Given the description of an element on the screen output the (x, y) to click on. 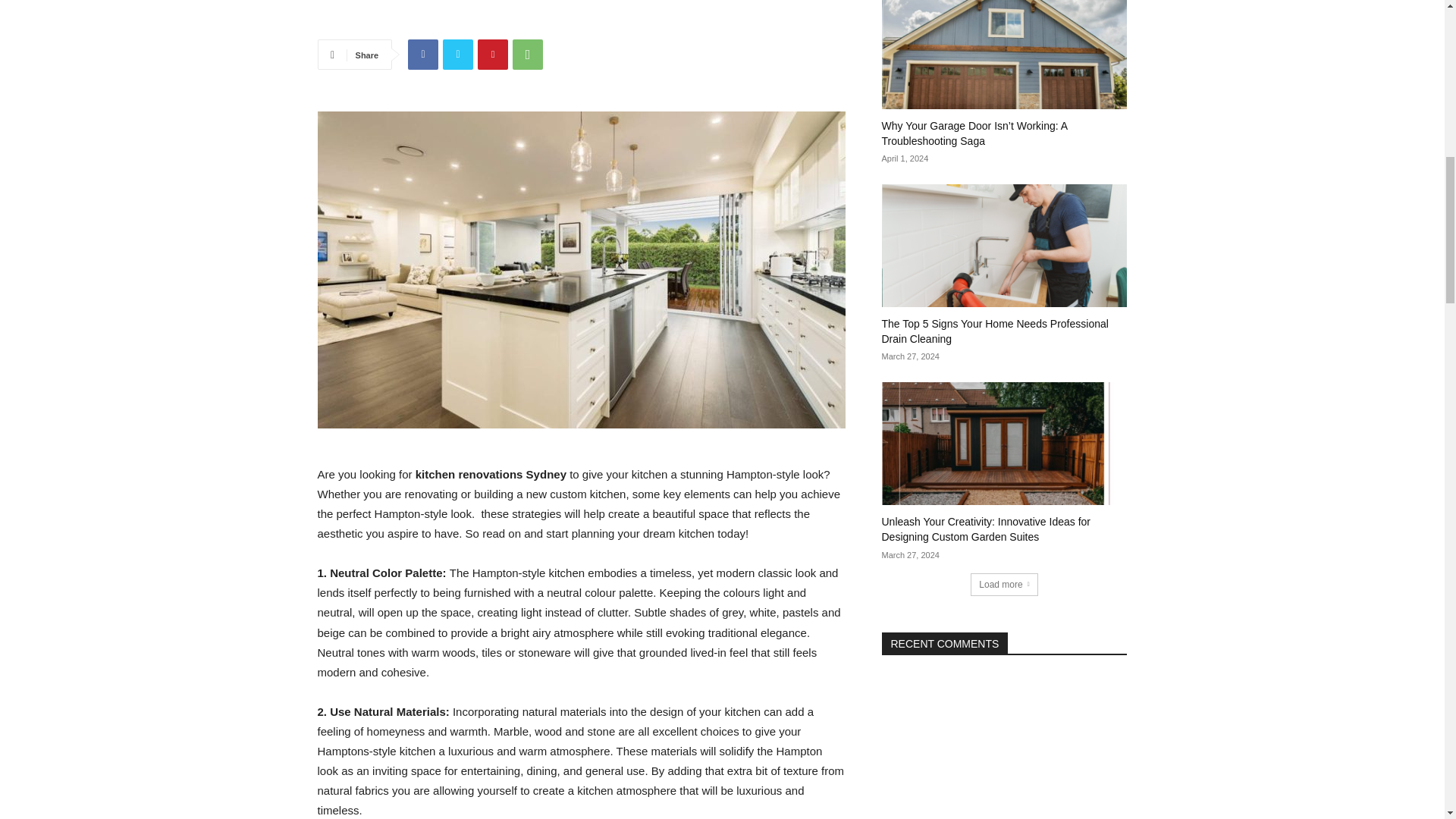
Pinterest (492, 54)
Facebook (422, 54)
WhatsApp (527, 54)
Twitter (457, 54)
